Given the description of an element on the screen output the (x, y) to click on. 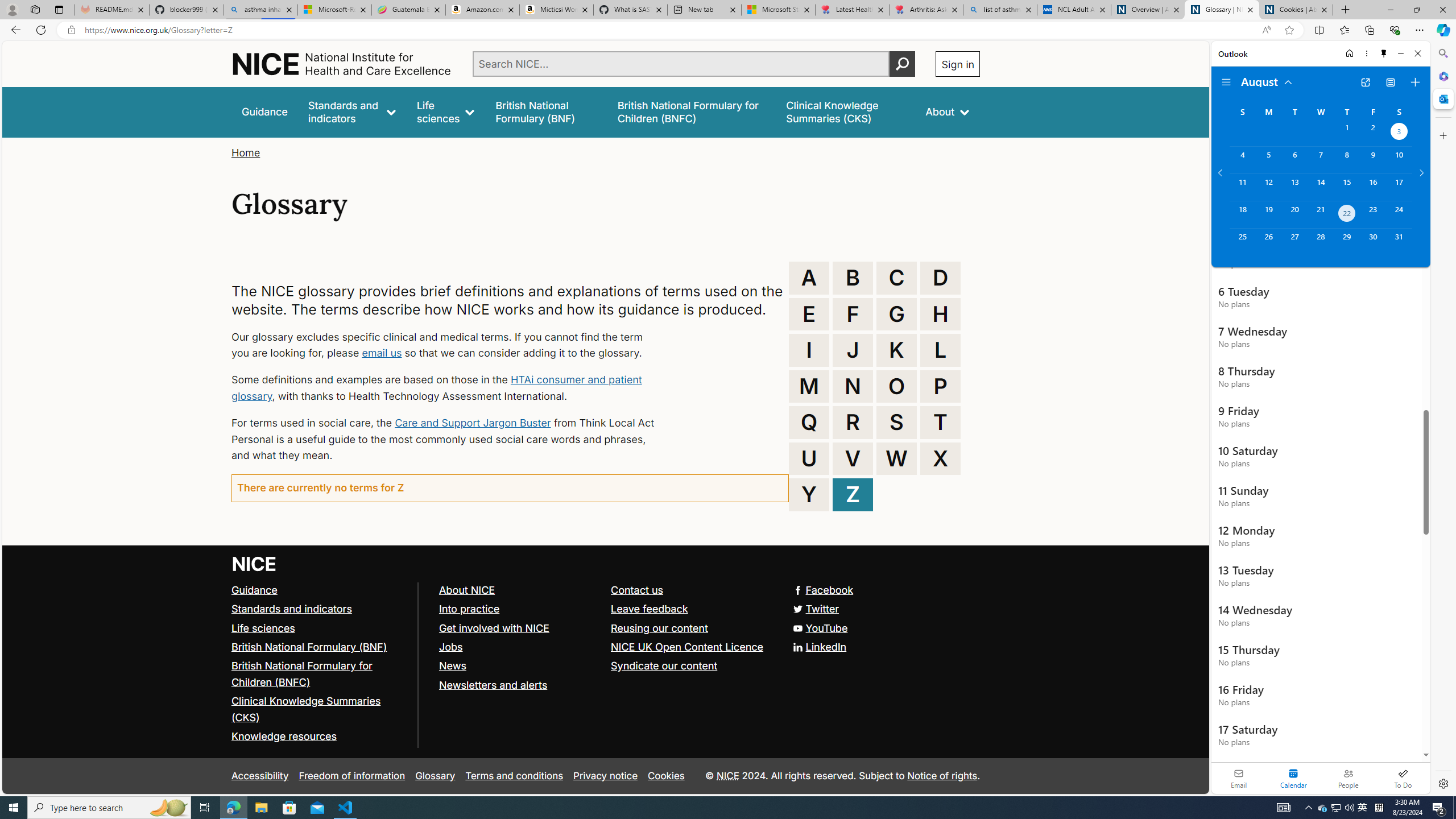
Tuesday, August 6, 2024.  (1294, 159)
Reusing our content (692, 628)
Thursday, August 1, 2024.  (1346, 132)
Freedom of information (352, 775)
Syndicate our content (664, 666)
Facebook (823, 589)
Terms and conditions (514, 775)
To Do (1402, 777)
Saturday, August 24, 2024.  (1399, 214)
S (896, 422)
